Given the description of an element on the screen output the (x, y) to click on. 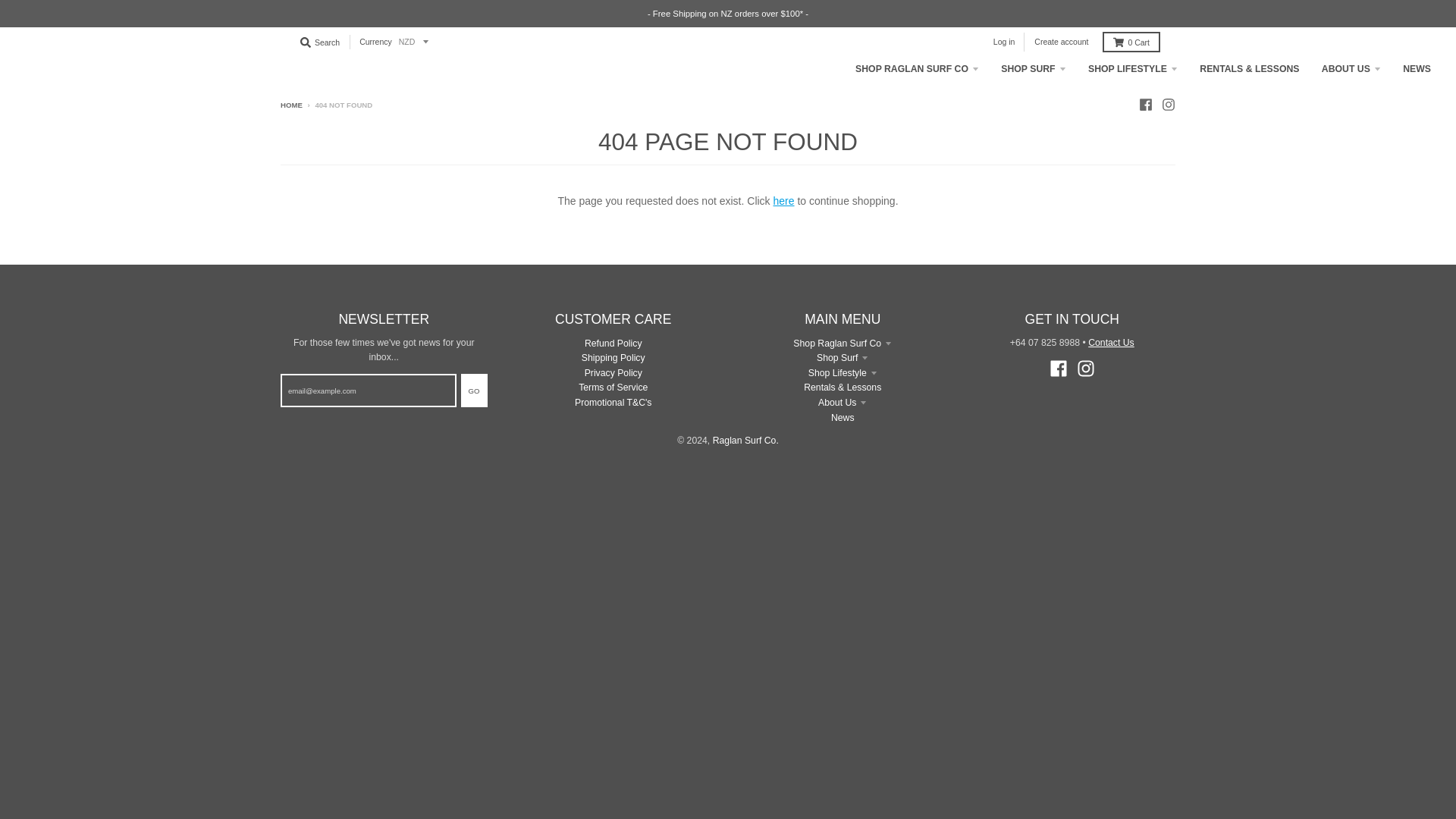
Instagram - Raglan Surf Co. (1085, 368)
0 Cart (1131, 41)
Facebook - Raglan Surf Co. (1058, 368)
Create account (1061, 41)
Back to the frontpage (291, 104)
Facebook - Raglan Surf Co. (1145, 104)
SHOP SURF (1033, 69)
SHOP RAGLAN SURF CO (916, 69)
Log in (1004, 41)
Instagram - Raglan Surf Co. (1167, 104)
